Given the description of an element on the screen output the (x, y) to click on. 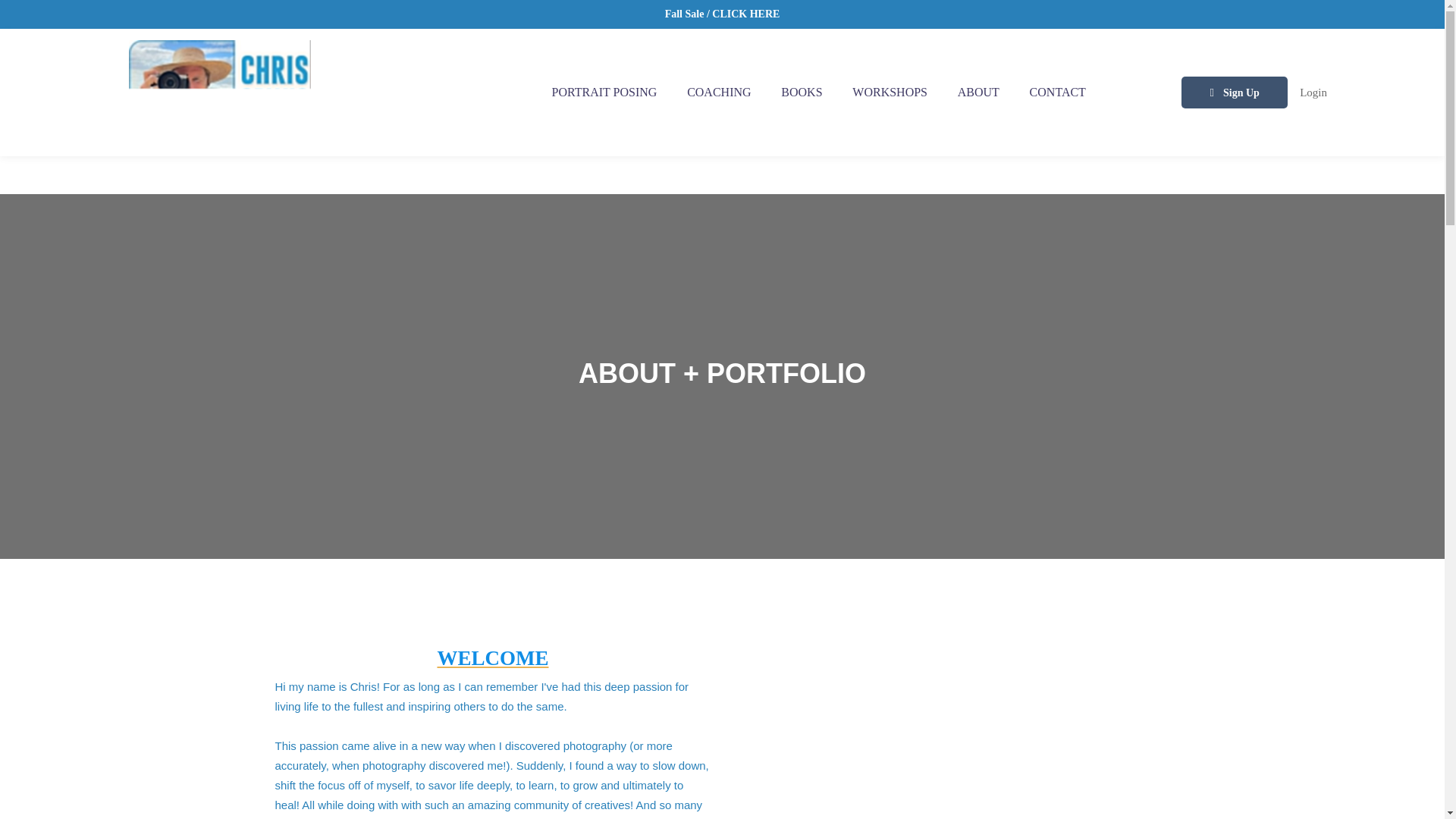
ABOUT (978, 92)
PORTRAIT POSING (604, 92)
WORKSHOPS (889, 92)
Sign Up (1233, 92)
BOOKS (801, 92)
Login (1313, 92)
COACHING (718, 92)
CONTACT (1057, 92)
